Given the description of an element on the screen output the (x, y) to click on. 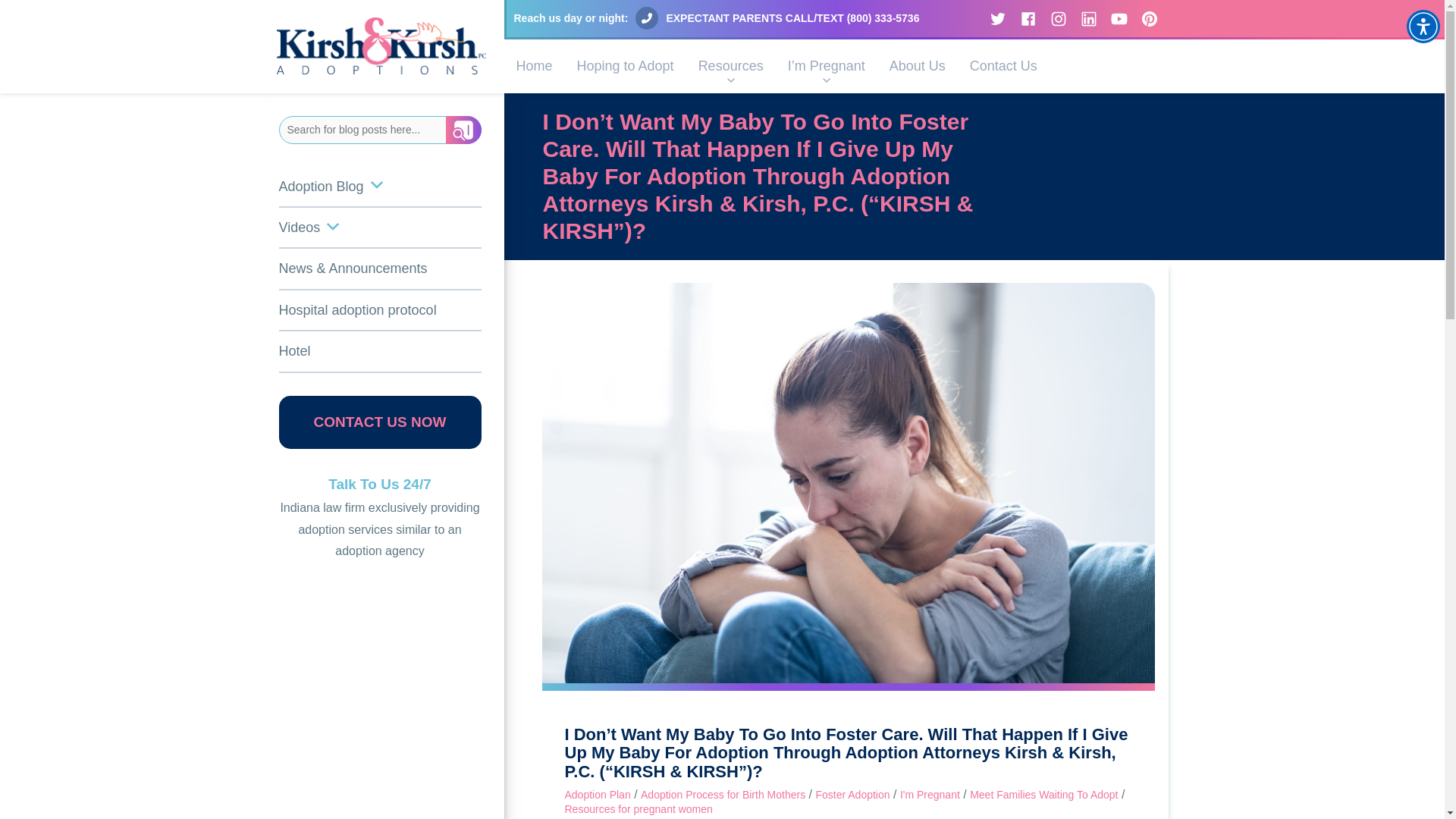
Accessibility Menu (1422, 26)
Foster Adoption (852, 794)
Adoption Process for Birth Mothers (722, 794)
Meet Families Waiting To Adopt (1043, 794)
Adoption Blog (380, 186)
Contact Us (1003, 66)
Home (533, 66)
Search (463, 130)
Hoping to Adopt (624, 66)
Resources (730, 66)
I'm Pregnant (929, 794)
About Us (917, 66)
Resources for pregnant women (637, 808)
Adoption Plan (597, 794)
